Given the description of an element on the screen output the (x, y) to click on. 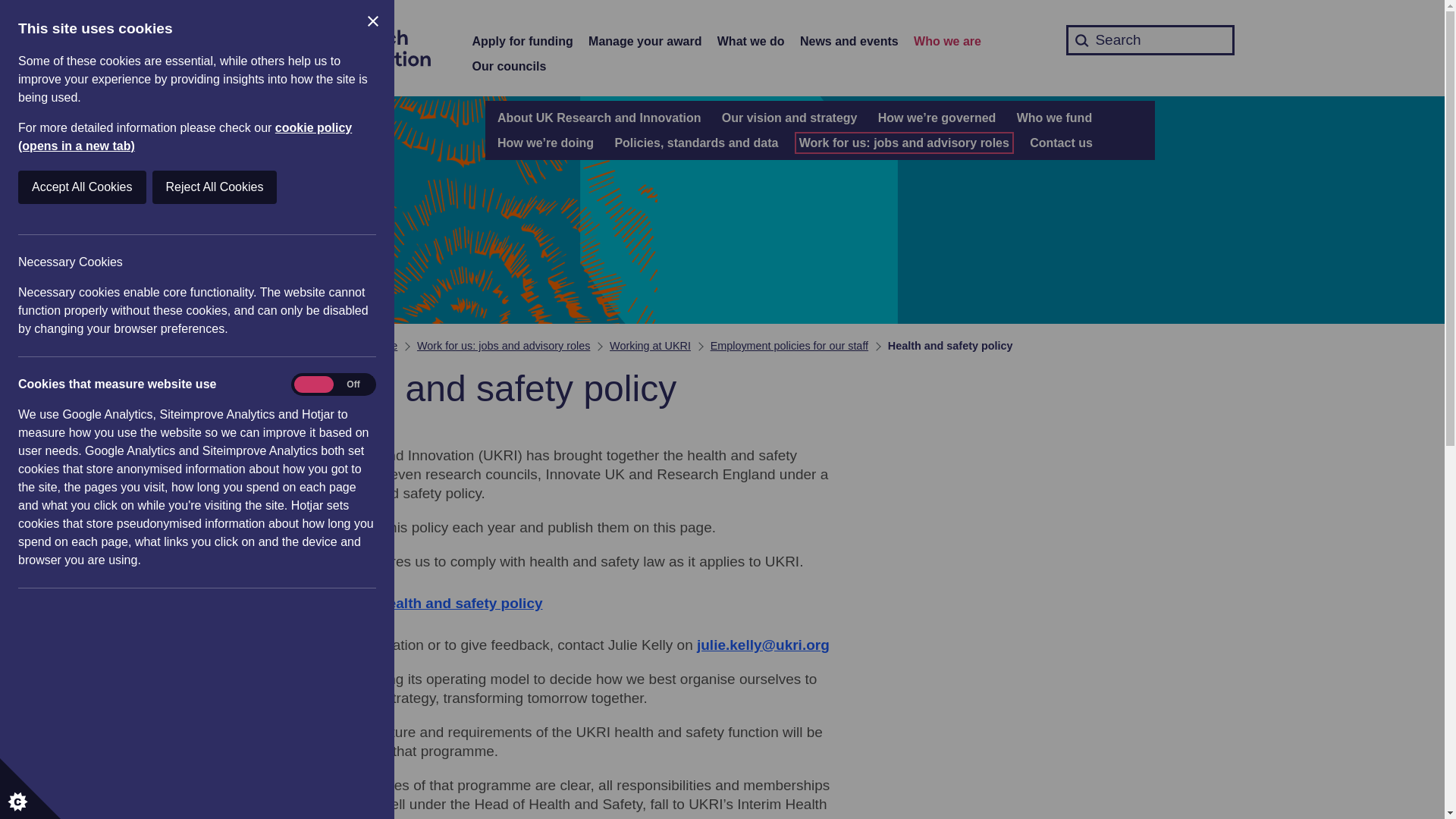
What we do (750, 41)
Apply for funding (521, 41)
Manage your award (644, 41)
Skip to main content (11, 7)
Our councils (508, 66)
Reject All Cookies (98, 186)
News and events (848, 41)
Who we are (947, 41)
on (333, 384)
